Given the description of an element on the screen output the (x, y) to click on. 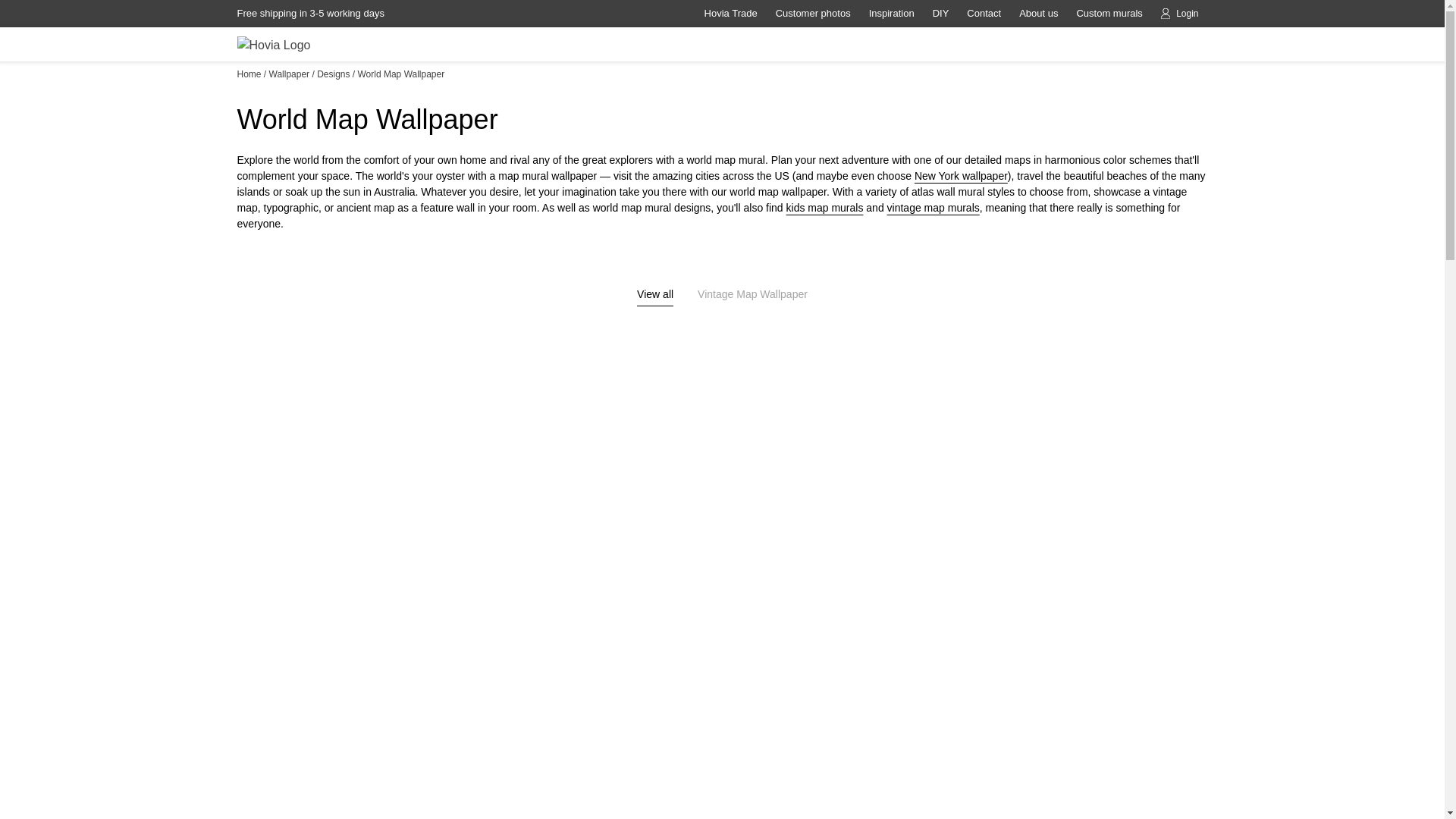
Custom murals (1109, 13)
vintage map murals (932, 207)
Designs (333, 73)
Customer photos (813, 13)
Contact (984, 13)
Inspiration (891, 13)
View all (654, 296)
kids map murals (824, 207)
Hovia Trade (731, 13)
Vintage Map Wallpaper (752, 295)
